Given the description of an element on the screen output the (x, y) to click on. 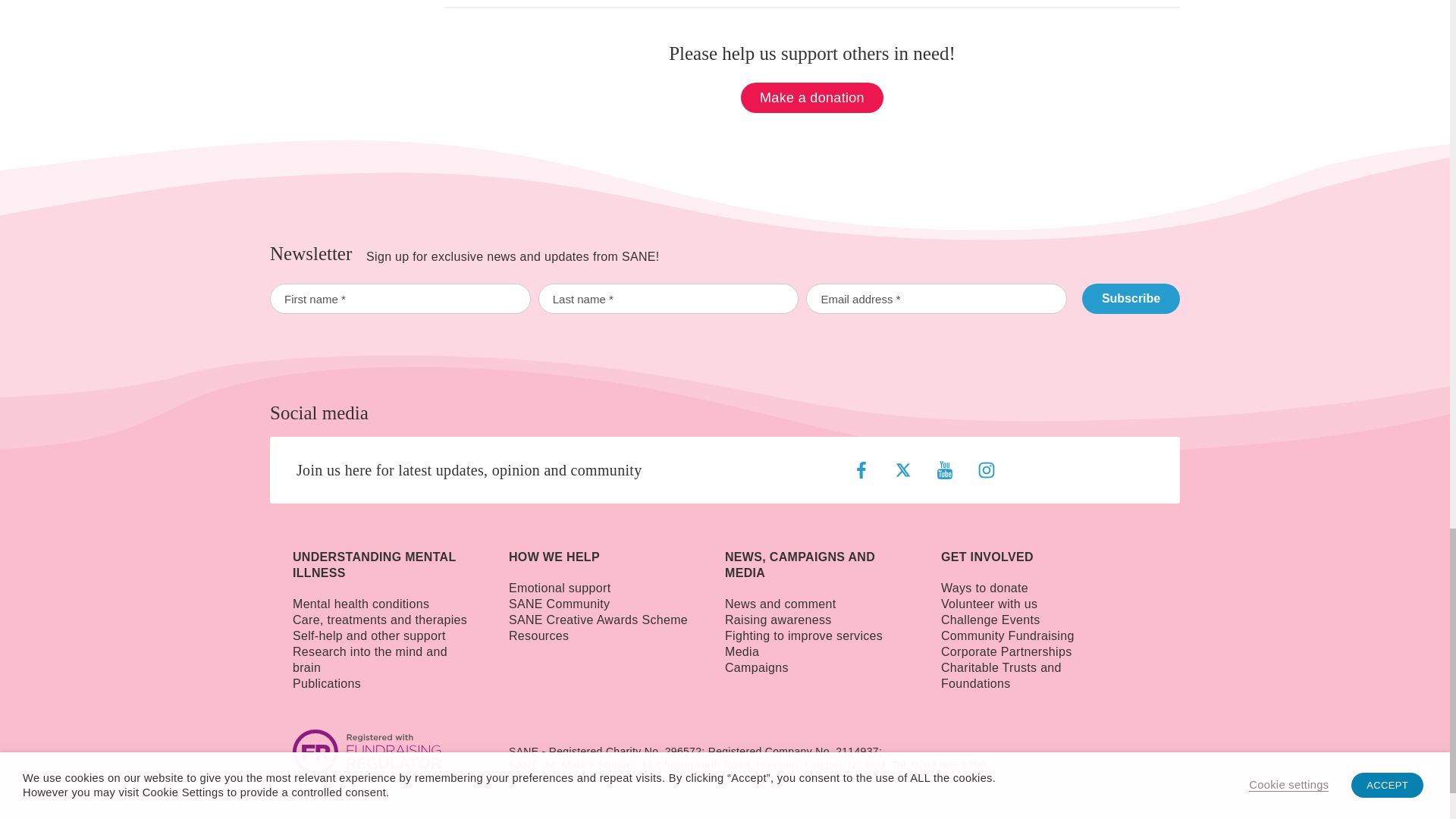
Subscribe (1130, 298)
